Given the description of an element on the screen output the (x, y) to click on. 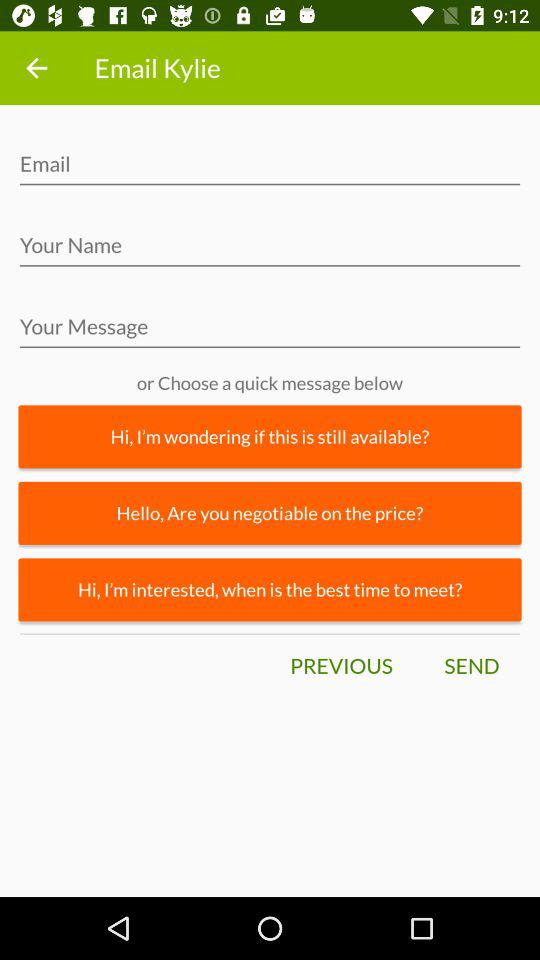
swipe to hello are you item (269, 512)
